Given the description of an element on the screen output the (x, y) to click on. 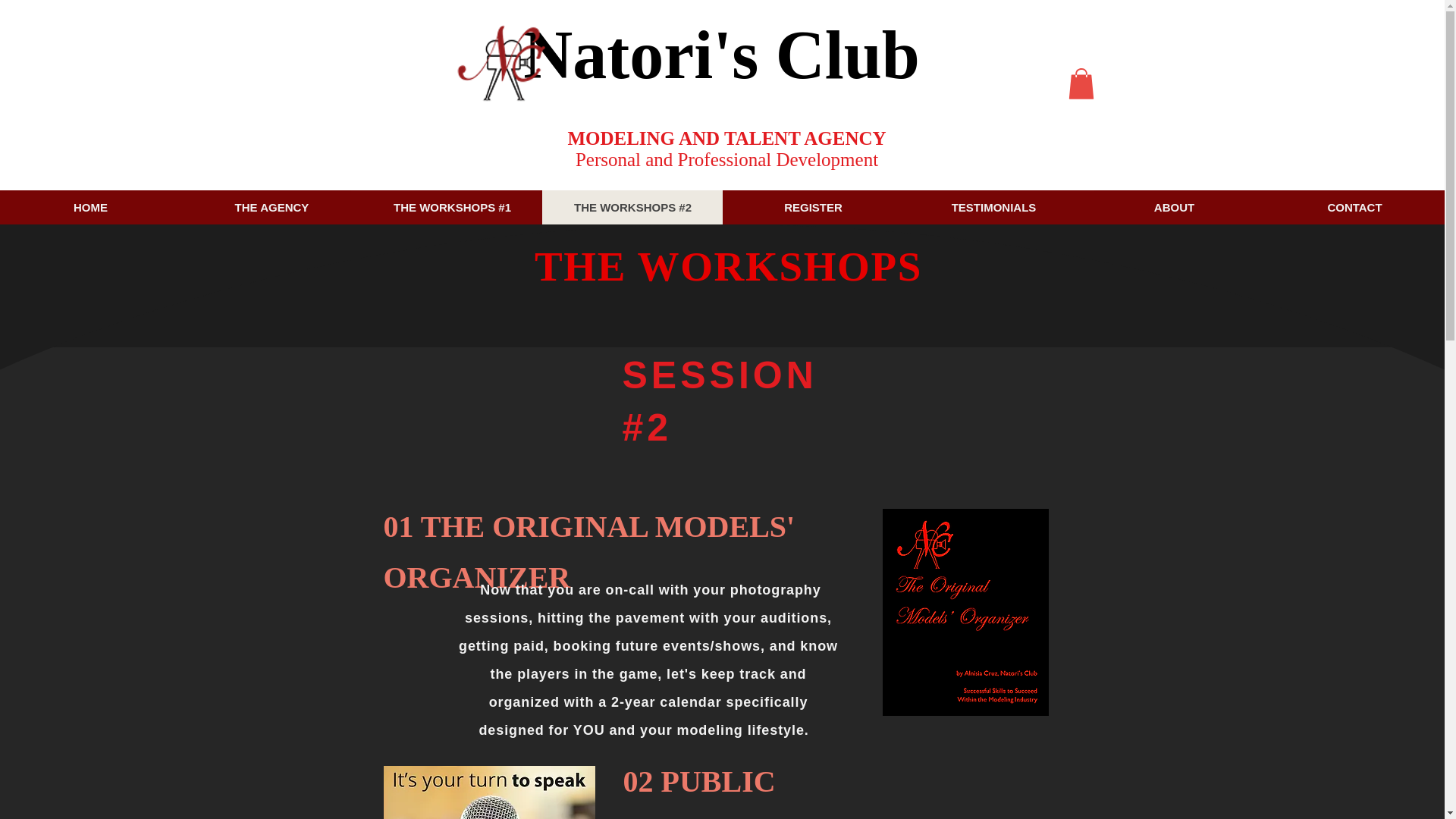
ABOUT (1173, 207)
HOME (90, 207)
REGISTER (812, 207)
THE AGENCY (270, 207)
Natori's Club (721, 54)
TESTIMONIALS (992, 207)
